Given the description of an element on the screen output the (x, y) to click on. 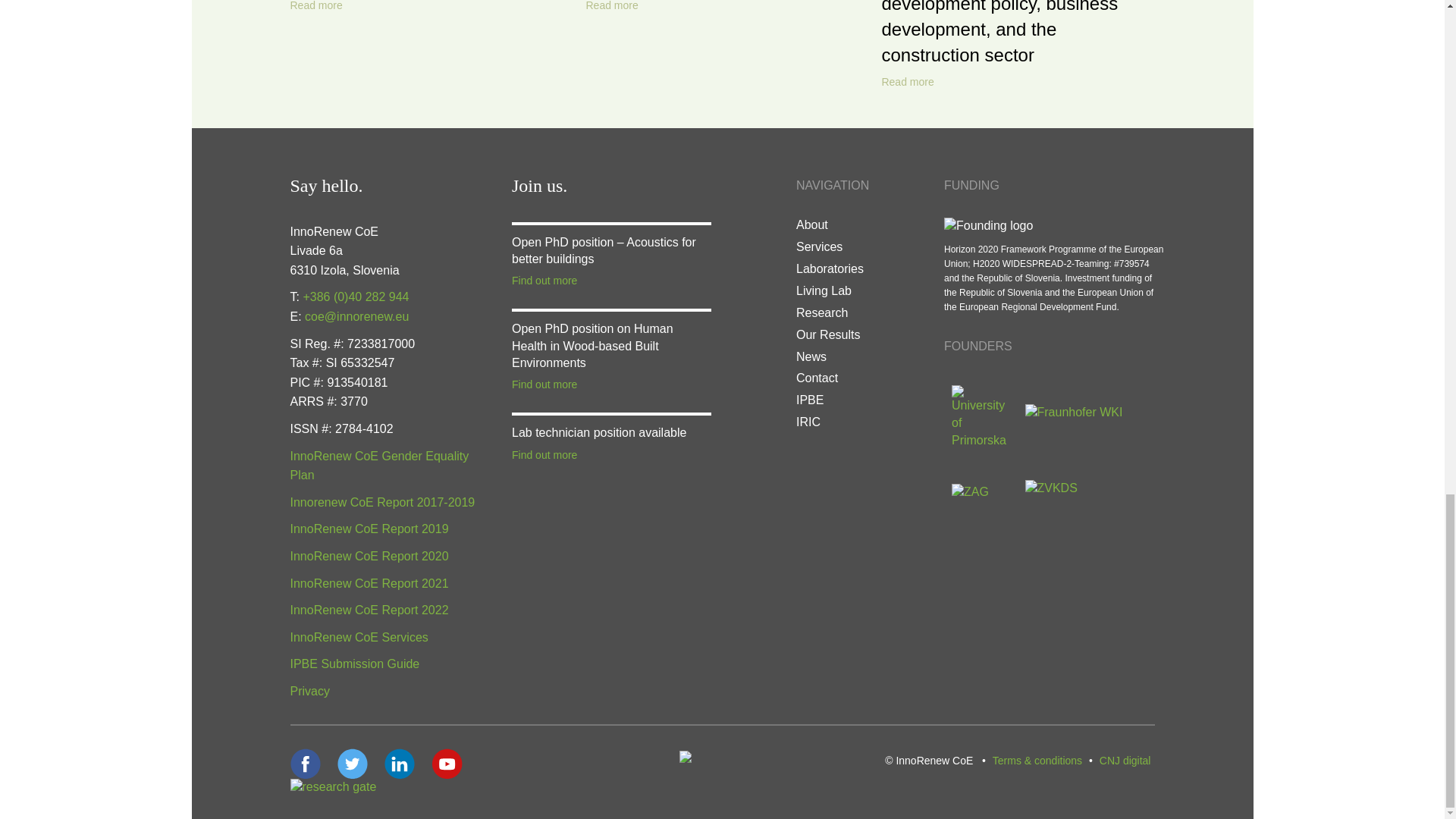
Read more (906, 82)
Read more (315, 6)
Read more (611, 6)
InnoRenew CoE Gender Equality Plan (378, 465)
